Given the description of an element on the screen output the (x, y) to click on. 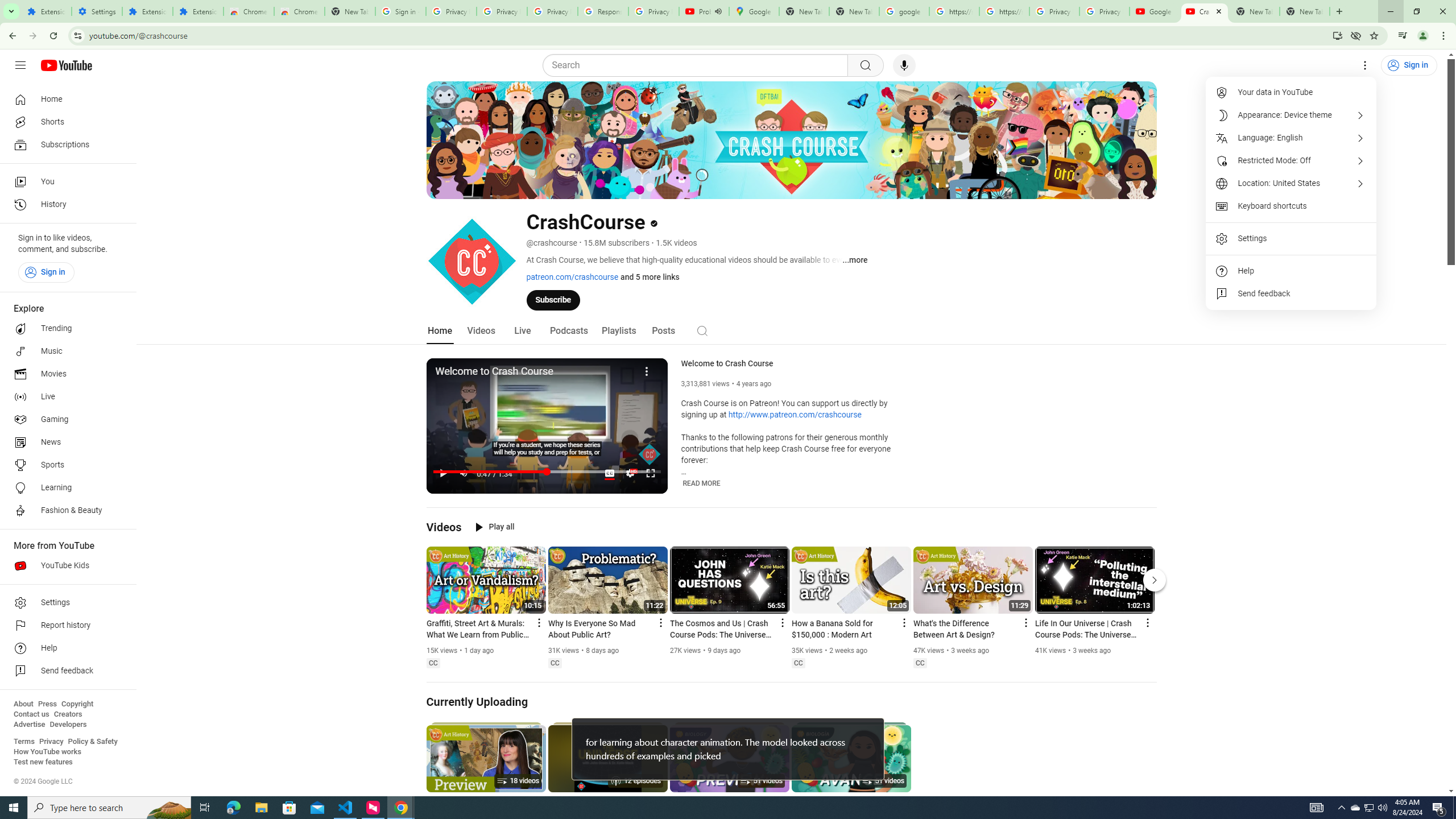
Restricted Mode: Off (1291, 160)
Contact us (31, 714)
Channel watermark (649, 454)
Full screen keyboard shortcut f (650, 472)
http://www.patreon.com/crashcourse (794, 414)
Seek slider (546, 471)
